Given the description of an element on the screen output the (x, y) to click on. 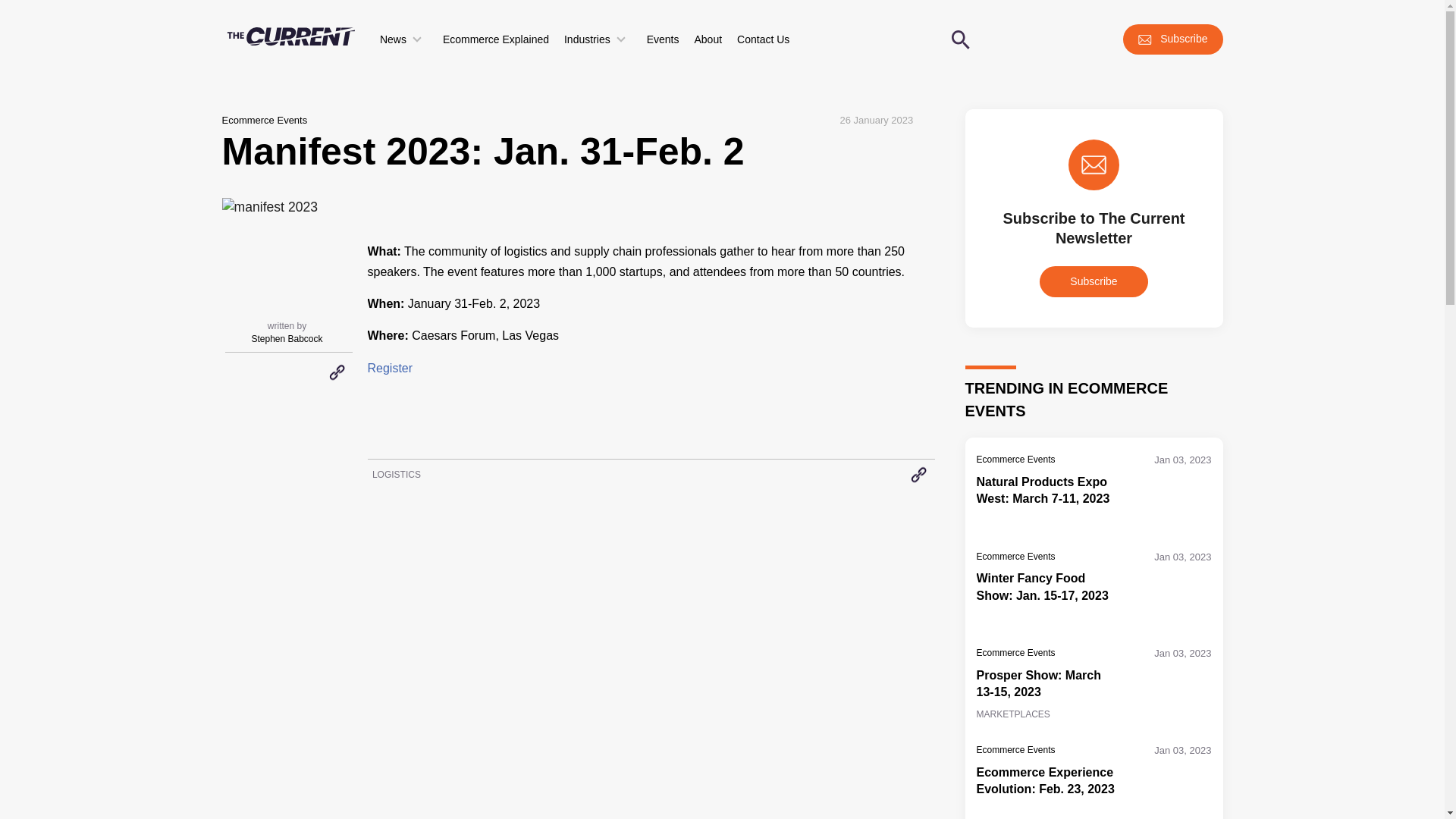
News (403, 39)
Industries (597, 39)
Copy this link to clipboard (336, 371)
Copy this link to clipboard (918, 474)
Ecommerce Explained (495, 39)
